Given the description of an element on the screen output the (x, y) to click on. 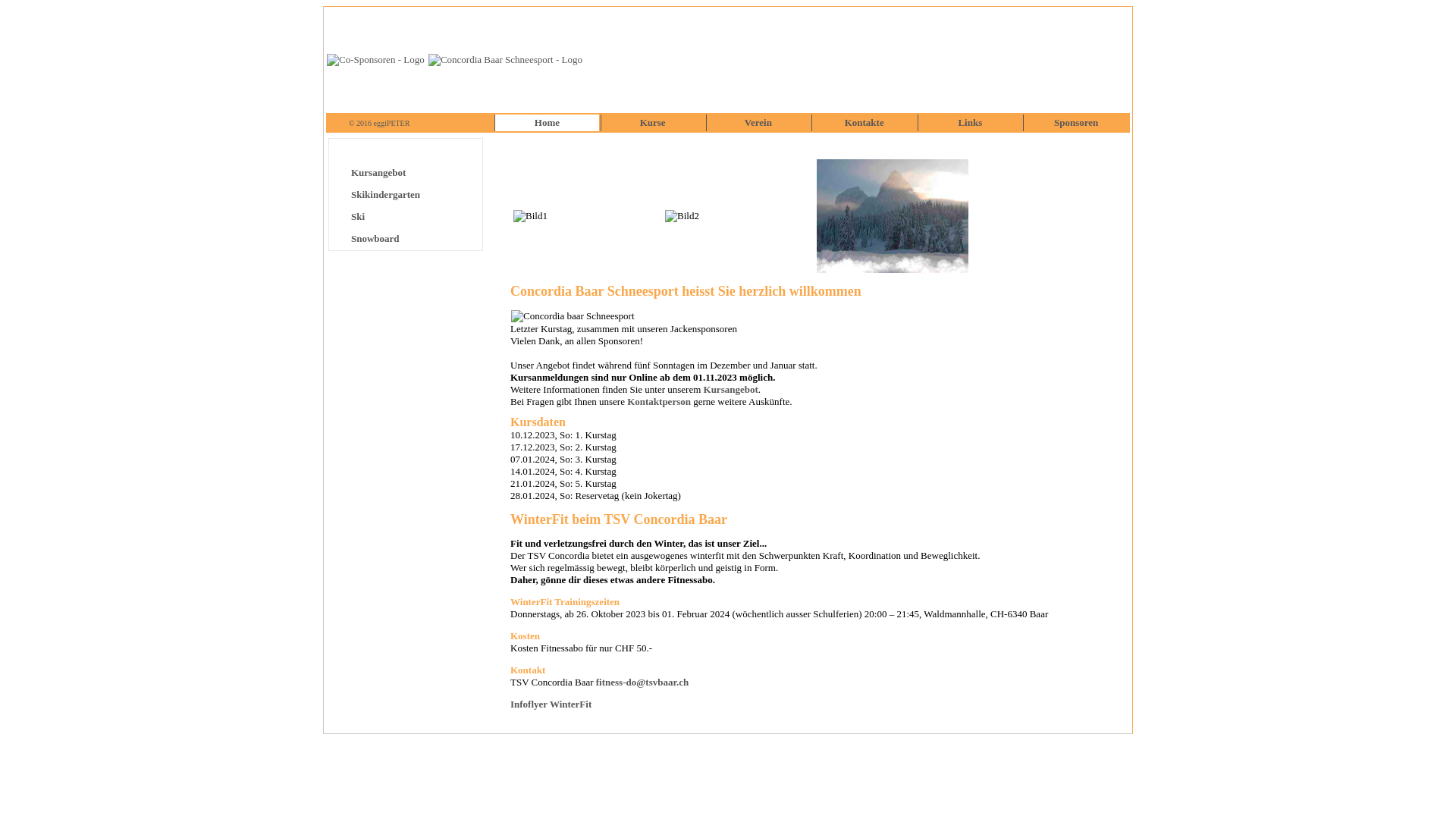
Ski Element type: text (357, 216)
Snowboard Element type: text (375, 237)
Kontaktperson Element type: text (658, 401)
Kursdaten Element type: text (537, 421)
fitness-do@tsvbaar.ch Element type: text (642, 681)
Kursangebot Element type: text (378, 172)
Kursangebot Element type: text (730, 389)
Links Element type: text (969, 122)
Infoflyer WinterFit Element type: text (550, 703)
Skikindergarten Element type: text (385, 193)
Kurse Element type: text (652, 122)
Verein Element type: text (757, 122)
Kontakte Element type: text (864, 122)
Sponsoren Element type: text (1076, 122)
Home Element type: text (546, 122)
